Given the description of an element on the screen output the (x, y) to click on. 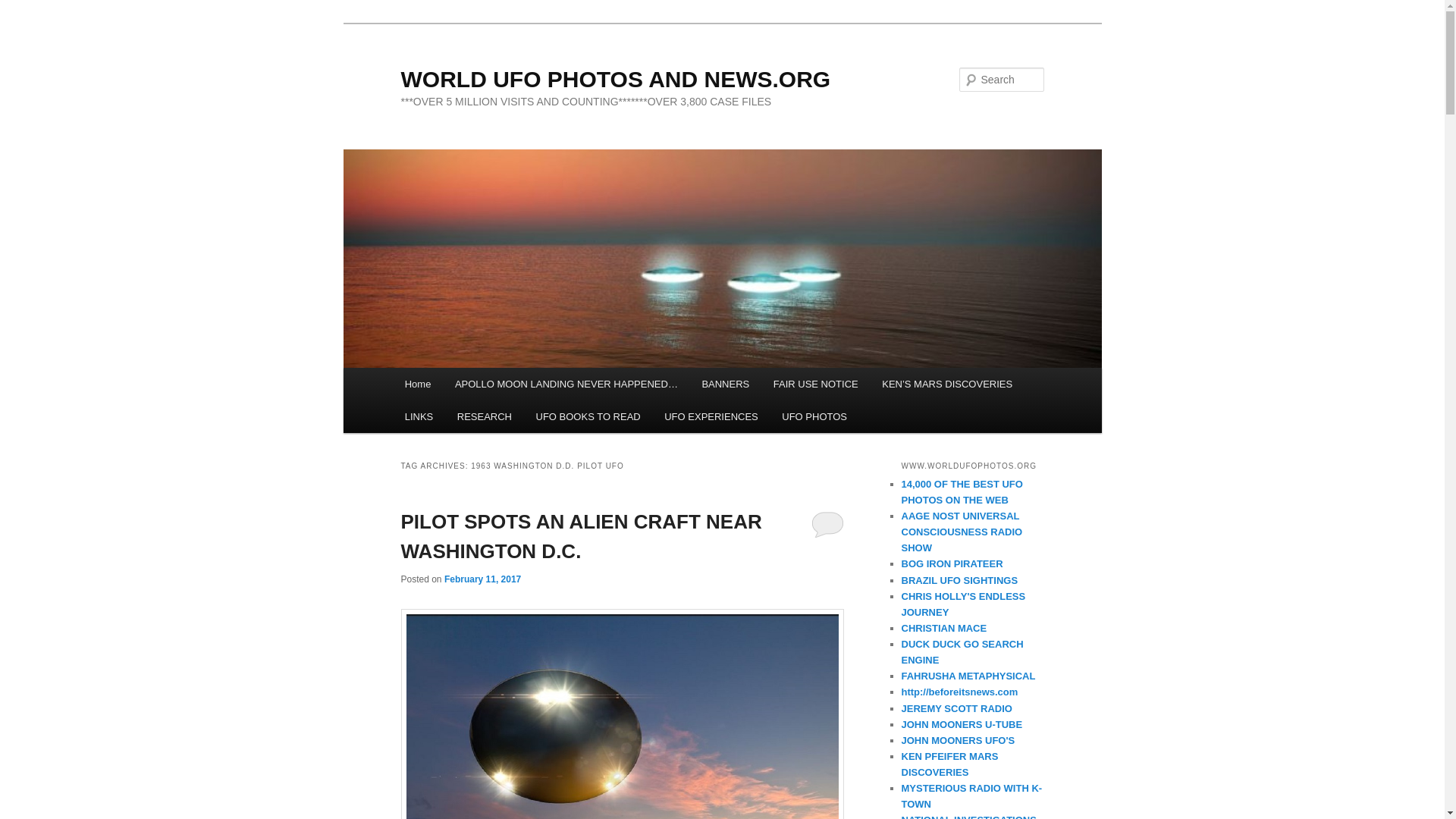
EXCELLENT UFO RADIO SHOW (961, 531)
SIGHTINGS FROM BRAZIL (959, 580)
Home (417, 383)
LEADING UFO ORGANIZATION (968, 816)
BANNERS (725, 383)
3:00 pm (482, 579)
WORLD UFO PHOTOS AND NEWS.ORG (614, 78)
RESEARCH (484, 416)
FUCK GOOGLE USE THE DUCK (962, 651)
UFO BOOKS TO READ (588, 416)
February 11, 2017 (482, 579)
UFO SITE (944, 627)
PILOT SPOTS AN ALIEN CRAFT NEAR WASHINGTON D.C. (580, 536)
MANY STORIES OF MYSTERY AND UFO SIGHTINGS (952, 563)
